Given the description of an element on the screen output the (x, y) to click on. 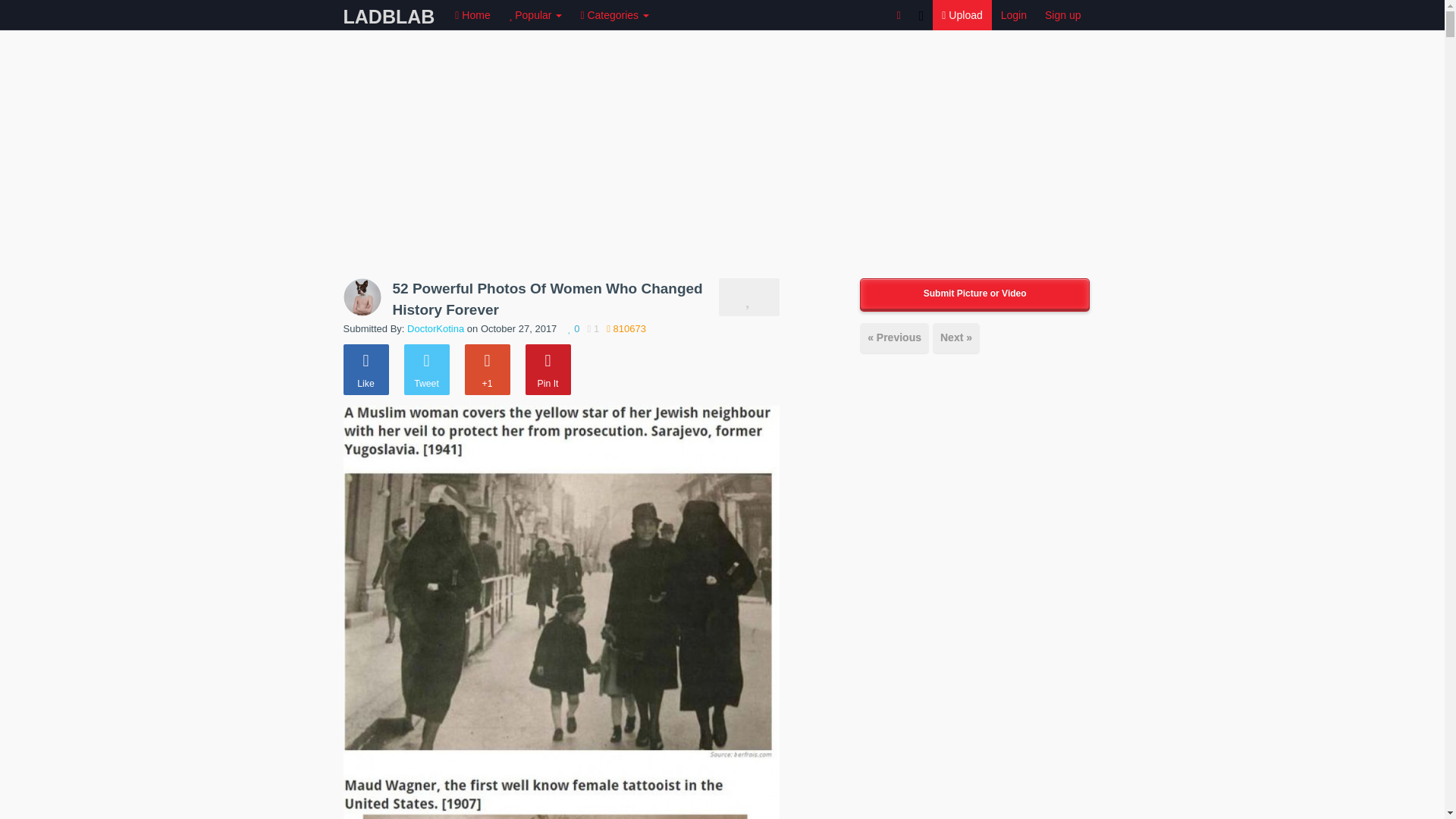
Share on Google Plus (486, 368)
Pin It (547, 368)
Share on Facebook (365, 368)
Share on Twitter (425, 368)
LADBLAB (388, 13)
